Given the description of an element on the screen output the (x, y) to click on. 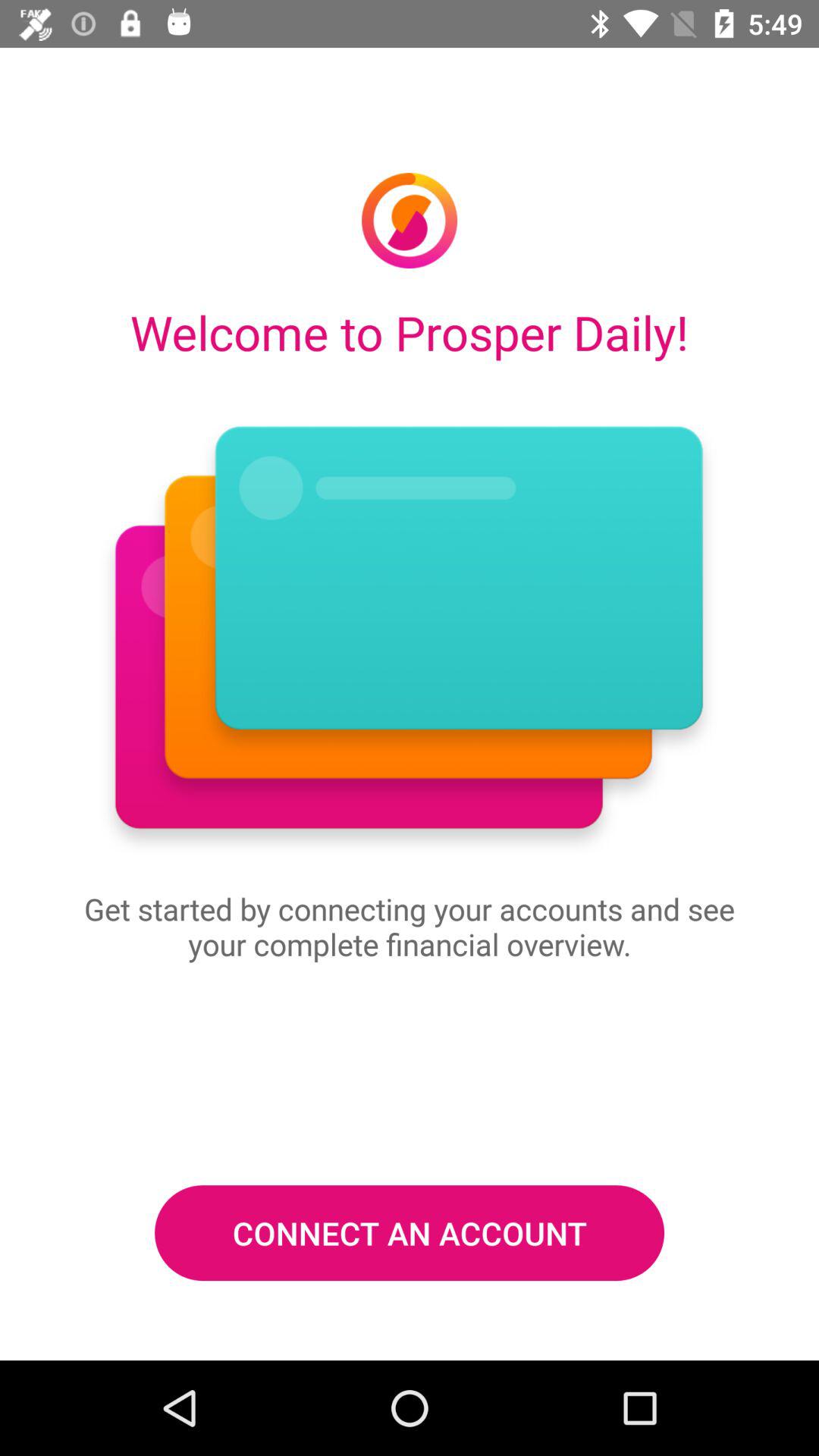
launch the item below the get started by item (409, 1232)
